Given the description of an element on the screen output the (x, y) to click on. 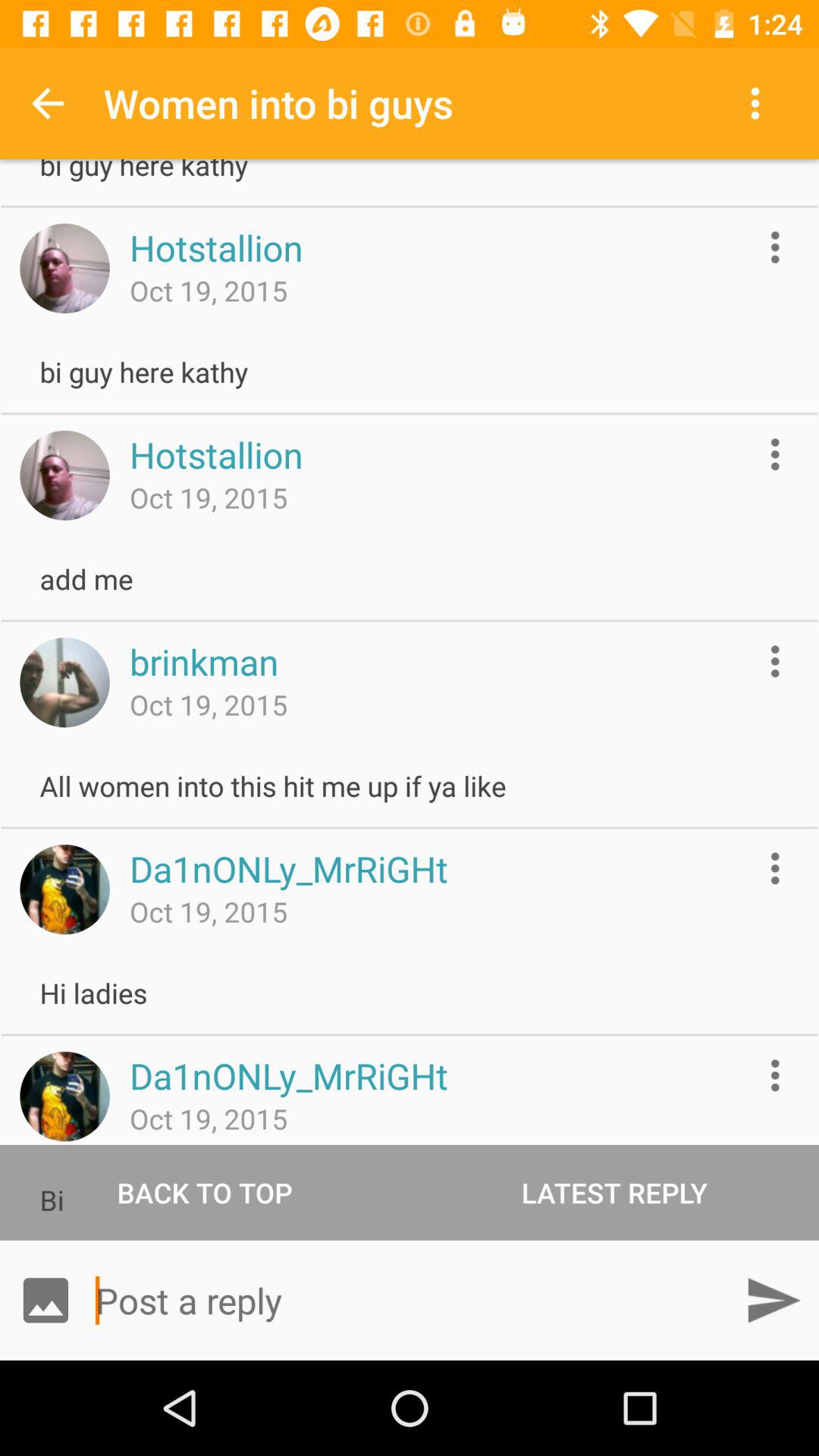
tap icon next to the latest reply icon (204, 1192)
